Given the description of an element on the screen output the (x, y) to click on. 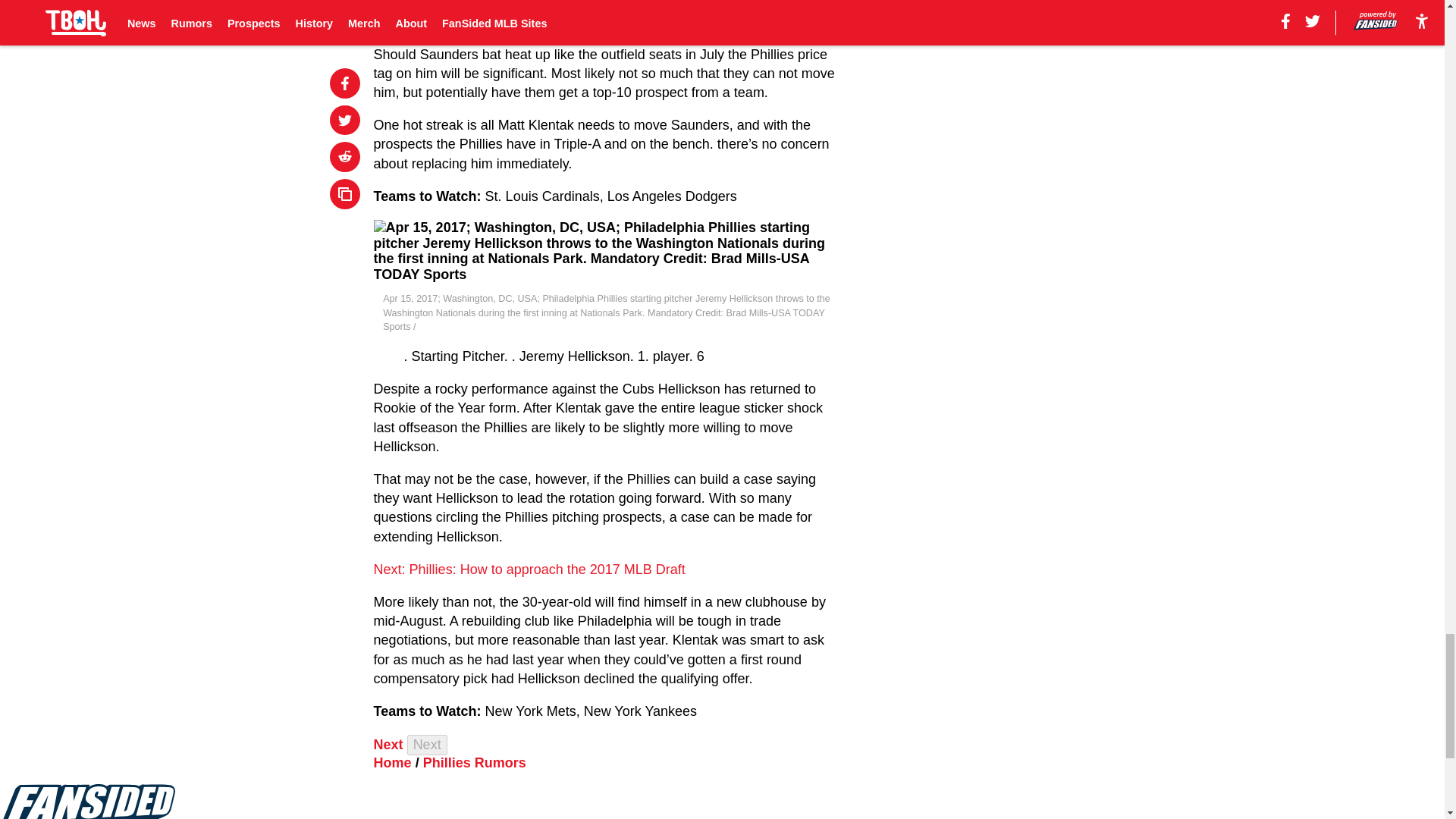
Next (388, 744)
Phillies Rumors (474, 762)
Home (393, 762)
Next (426, 744)
Next: Phillies: How to approach the 2017 MLB Draft (529, 569)
